Given the description of an element on the screen output the (x, y) to click on. 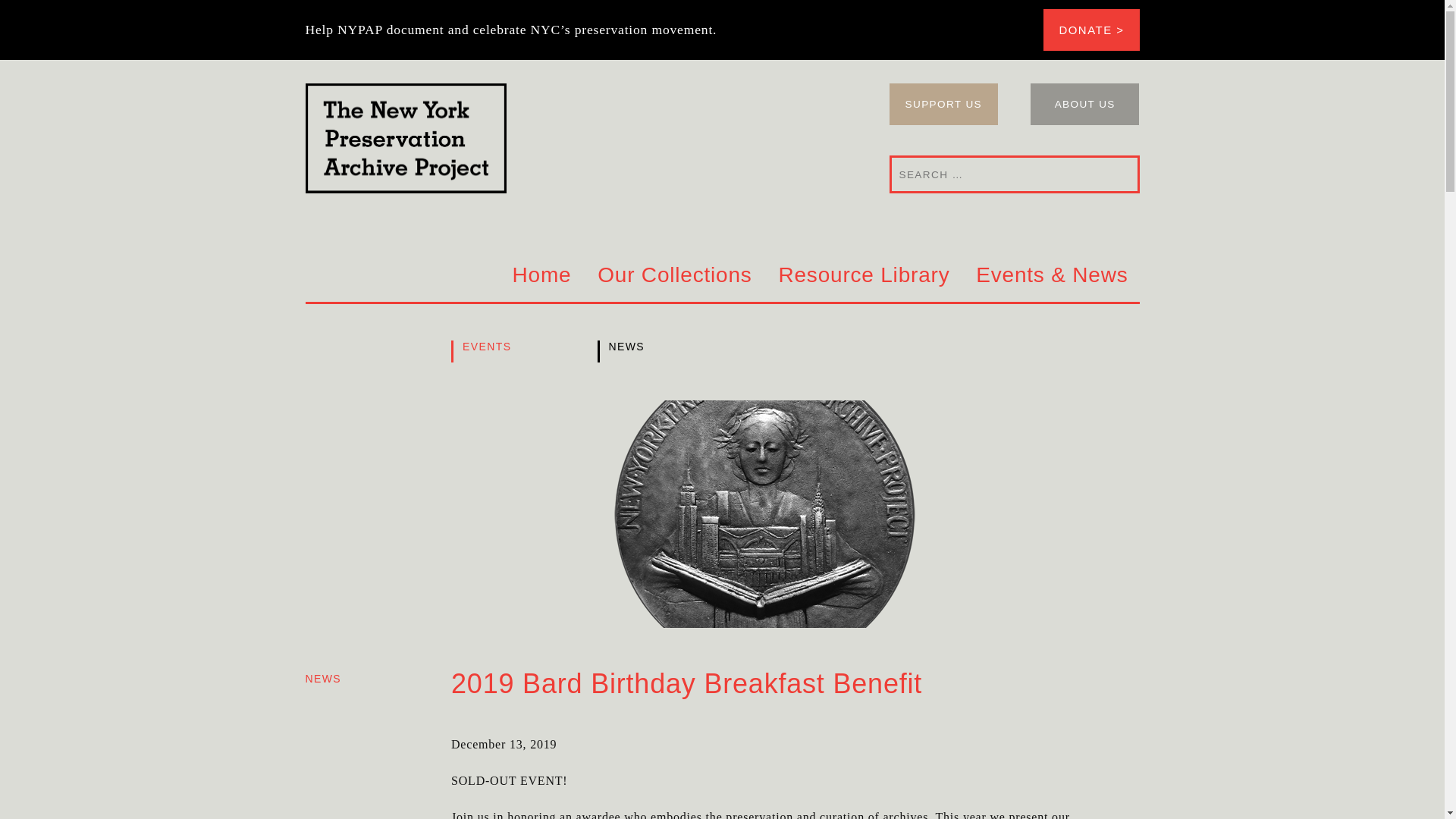
NYPAP (575, 138)
Home (541, 276)
EVENTS (503, 351)
NEWS (322, 678)
SUPPORT US (942, 104)
ABOUT US (1085, 104)
NEWS (648, 351)
